Given the description of an element on the screen output the (x, y) to click on. 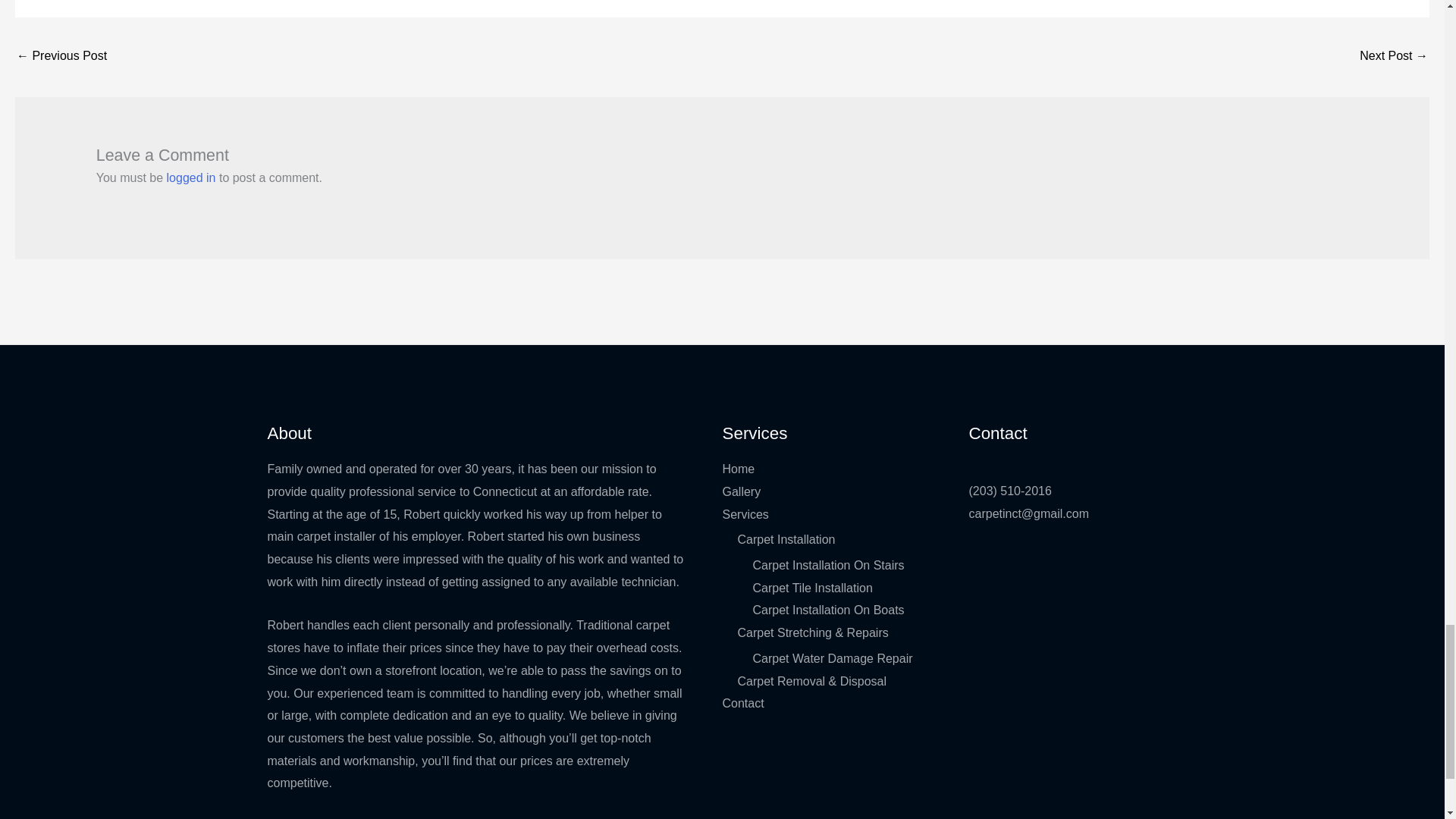
Carpet Removal In Oxford CT (61, 57)
Carpet Removal In Trumbull CT (1393, 57)
